Given the description of an element on the screen output the (x, y) to click on. 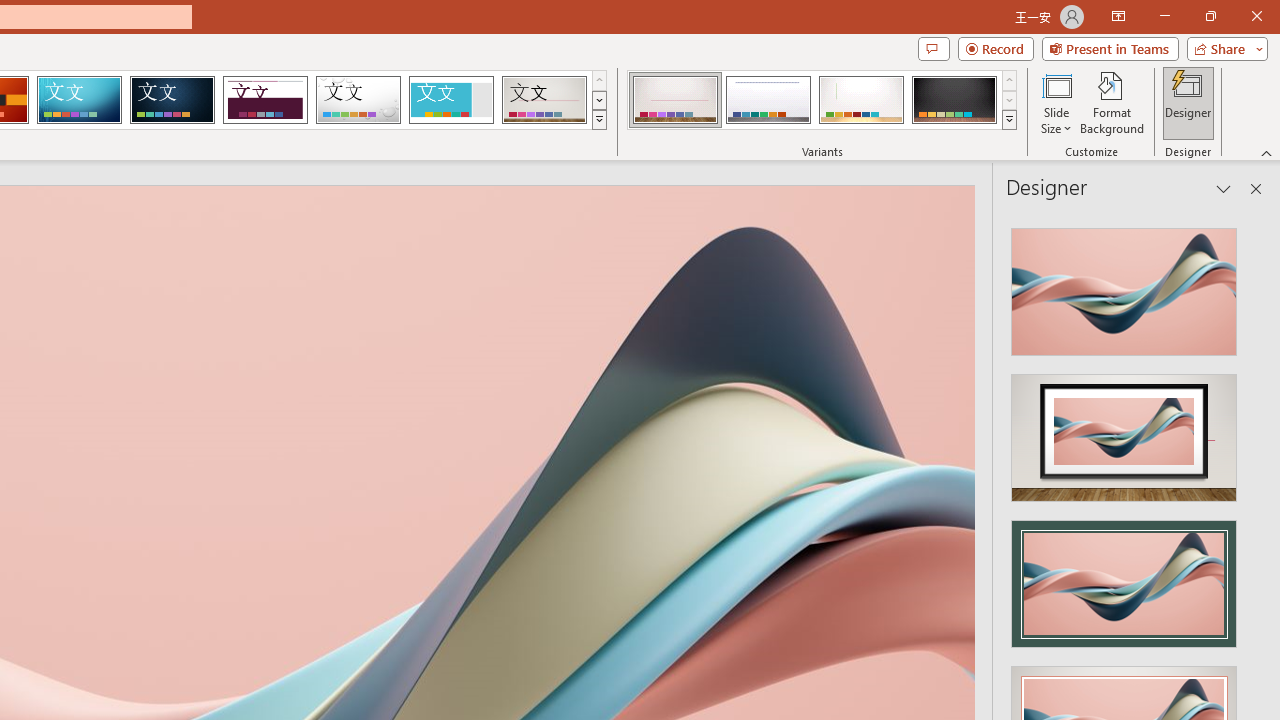
Format Background (1111, 102)
Slide Size (1056, 102)
